Given the description of an element on the screen output the (x, y) to click on. 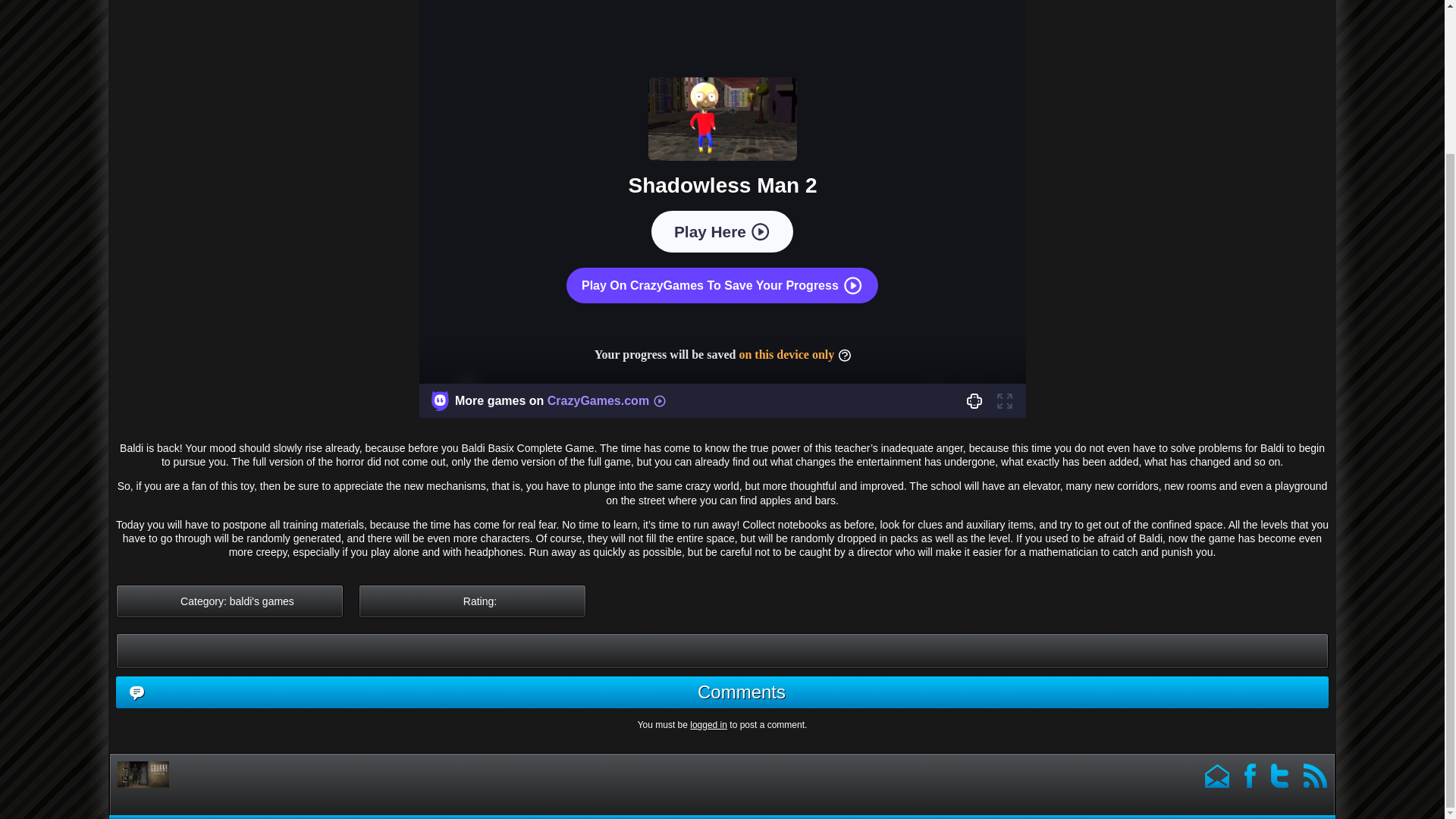
granny games online (163, 774)
